Given the description of an element on the screen output the (x, y) to click on. 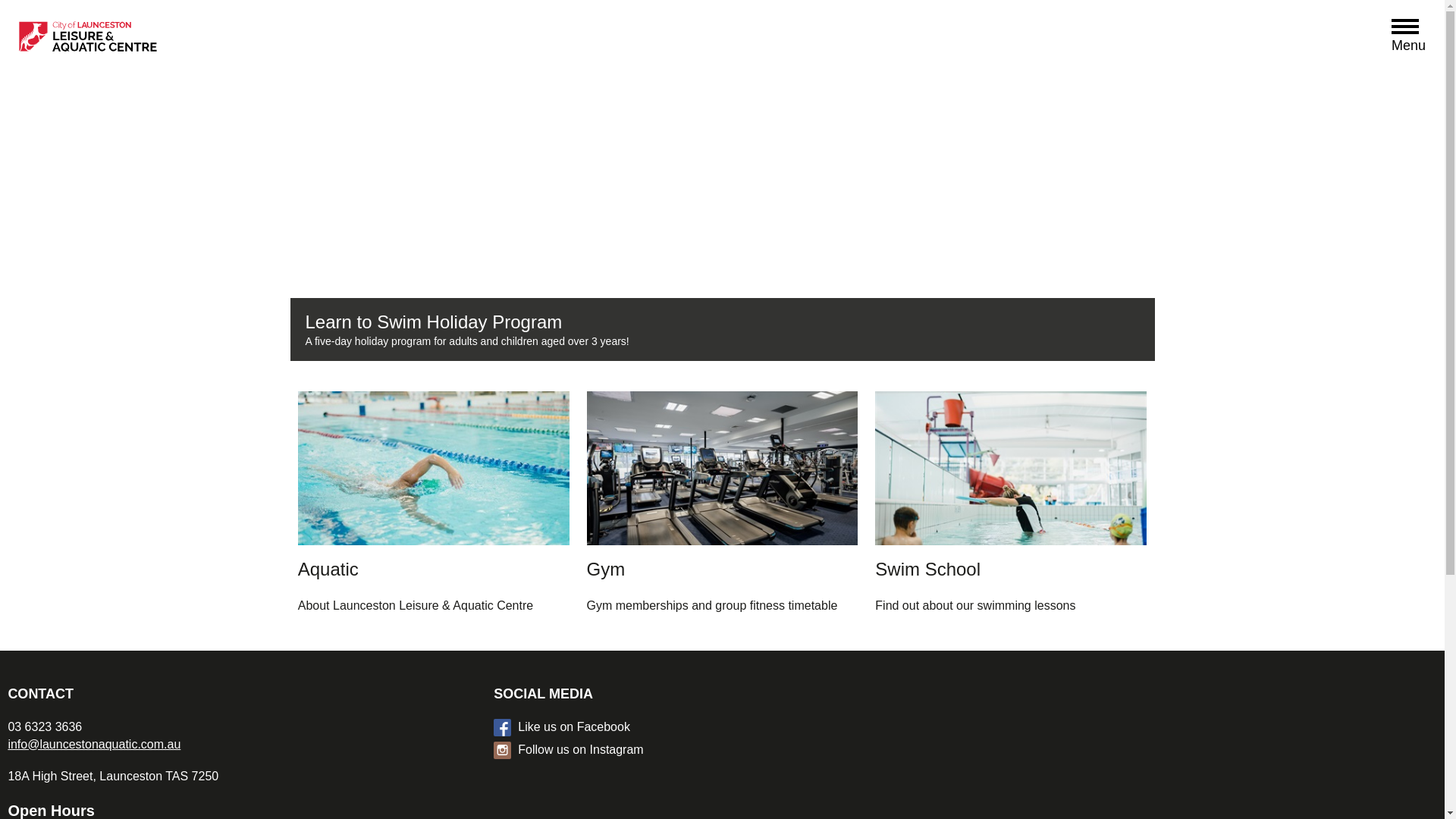
Menu Element type: text (1408, 28)
Gym
Gym memberships and group fitness timetable Element type: text (722, 505)
Like us on Facebook Element type: text (733, 726)
Aquatic
About Launceston Leisure & Aquatic Centre Element type: text (433, 505)
Follow us on Instagram Element type: text (733, 749)
info@launcestonaquatic.com.au Element type: text (93, 743)
Swim School
Find out about our swimming lessons Element type: text (1010, 505)
Home - Launceston Leisure & Aquatic Centre - Logo Element type: text (151, 39)
